Given the description of an element on the screen output the (x, y) to click on. 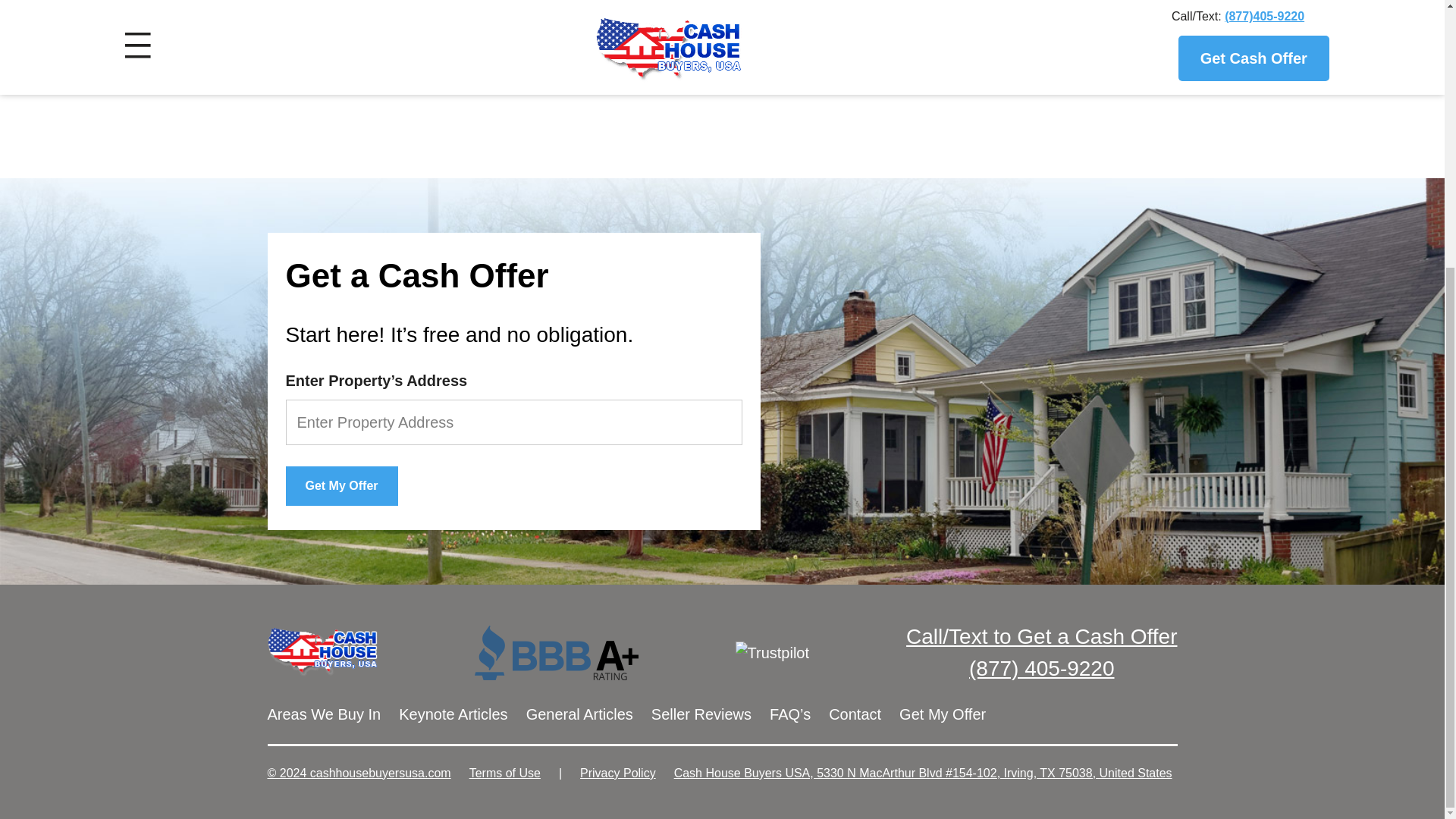
Terms of Use (504, 772)
Get My Offer (942, 713)
General Articles (579, 713)
Get My Offer (341, 486)
Areas We Buy In (323, 713)
Seller Reviews (700, 713)
Keynote Articles (452, 713)
Reviews (700, 713)
Get My Offer (341, 486)
Privacy Policy (617, 772)
Contact (854, 713)
